Given the description of an element on the screen output the (x, y) to click on. 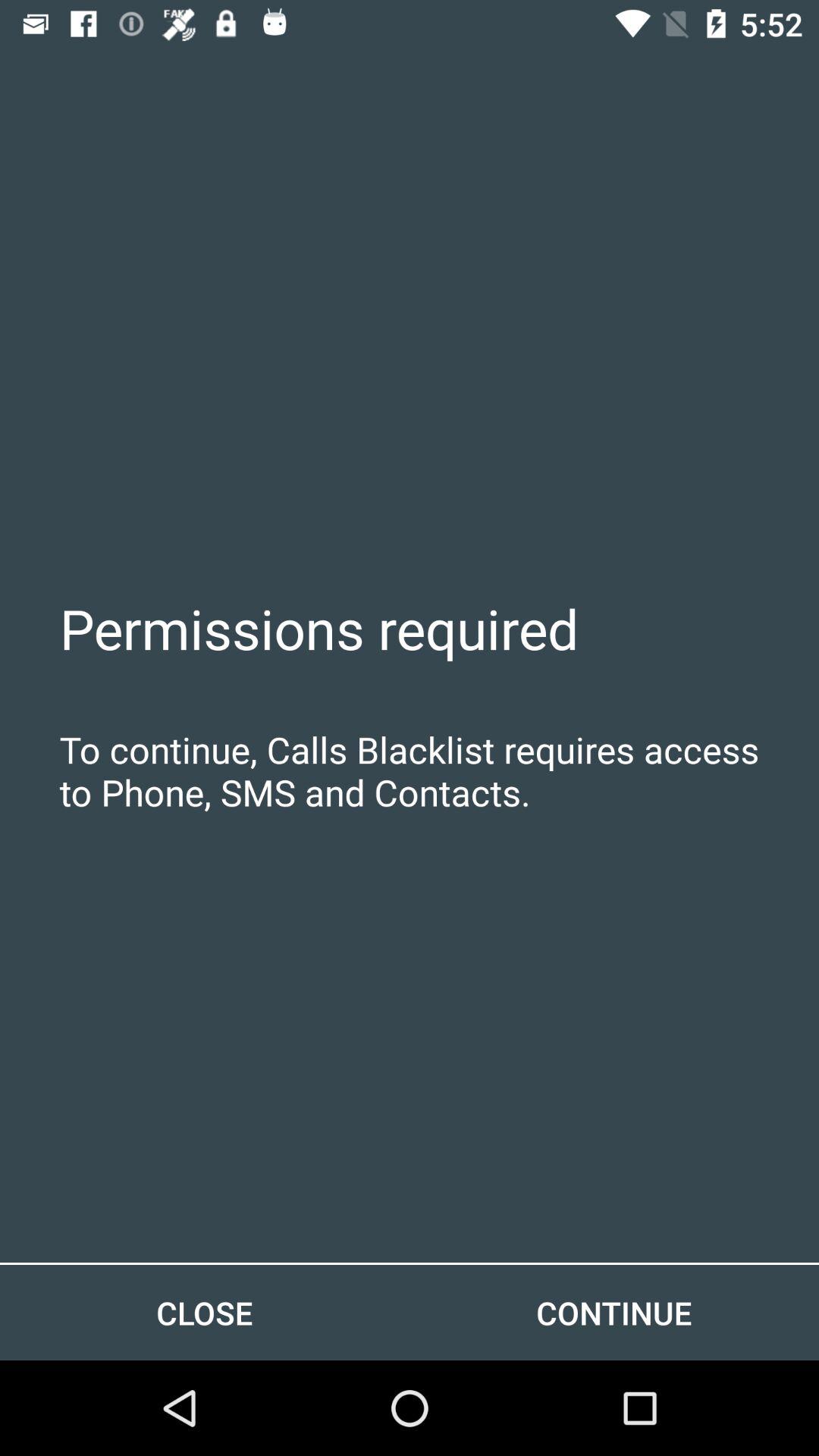
select the close icon (204, 1312)
